Given the description of an element on the screen output the (x, y) to click on. 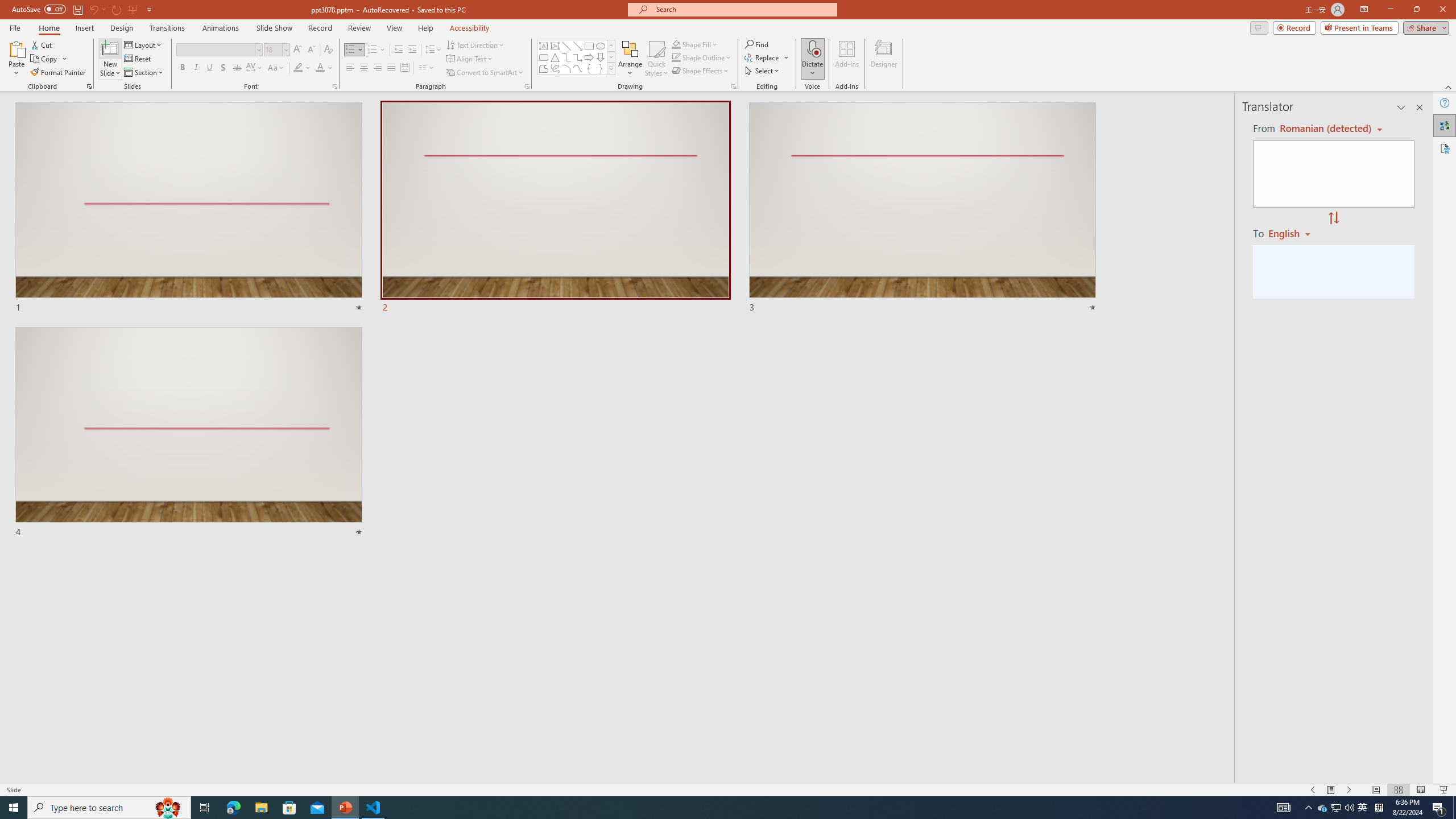
Arrange (630, 58)
Decrease Font Size (310, 49)
Font Color Red (320, 67)
Strikethrough (237, 67)
